Given the description of an element on the screen output the (x, y) to click on. 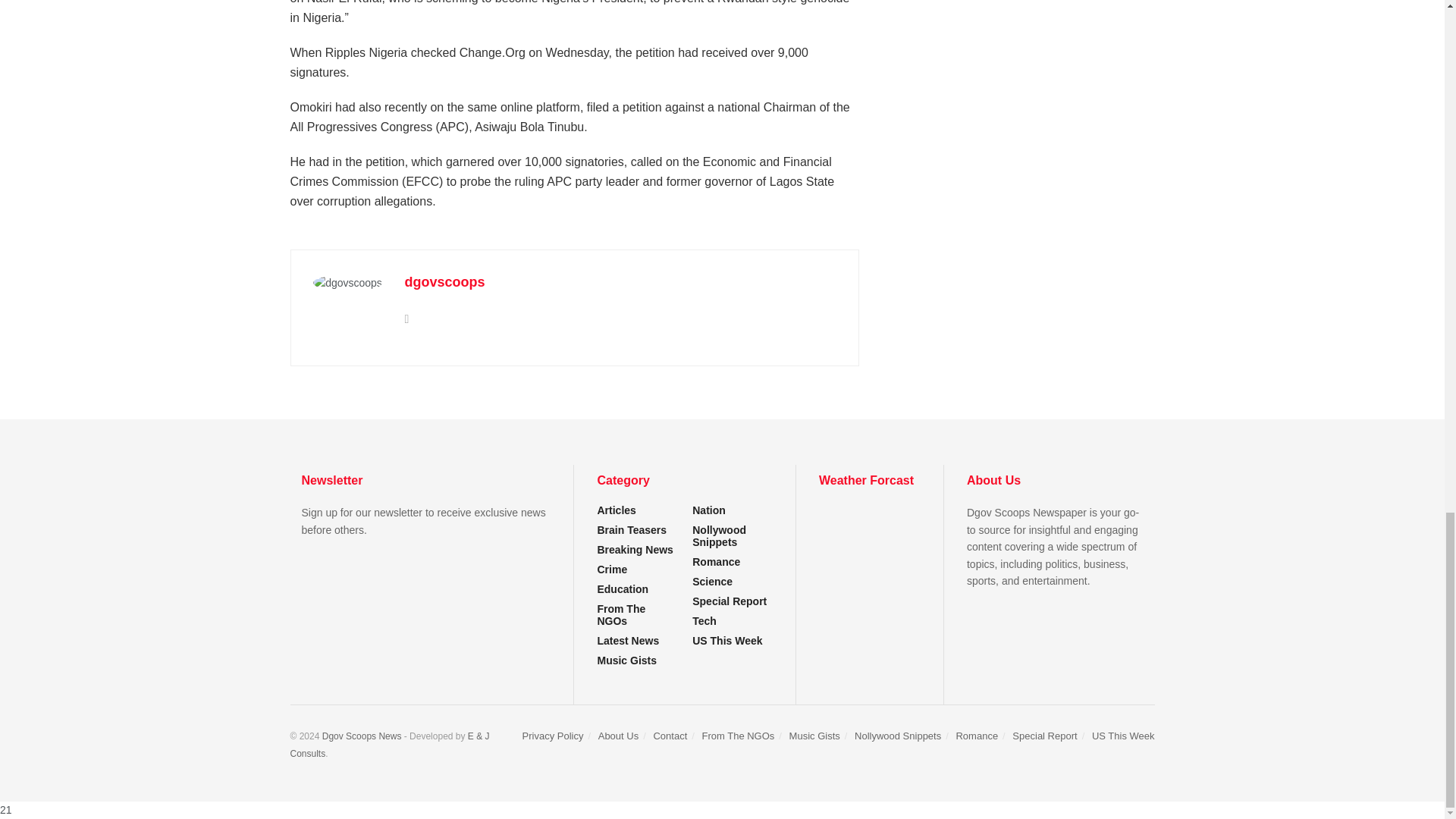
Dgov Scoops News (361, 736)
